Given the description of an element on the screen output the (x, y) to click on. 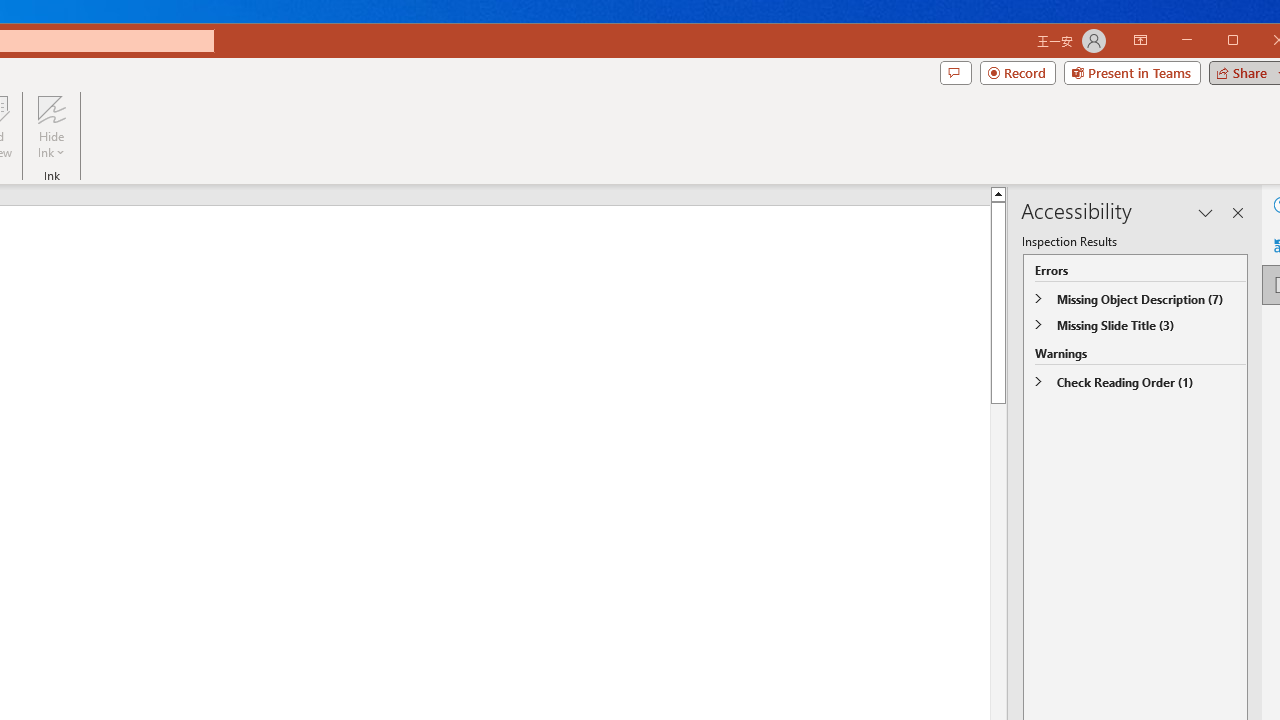
Hide Ink (51, 109)
Maximize (1261, 42)
Hide Ink (51, 127)
